Given the description of an element on the screen output the (x, y) to click on. 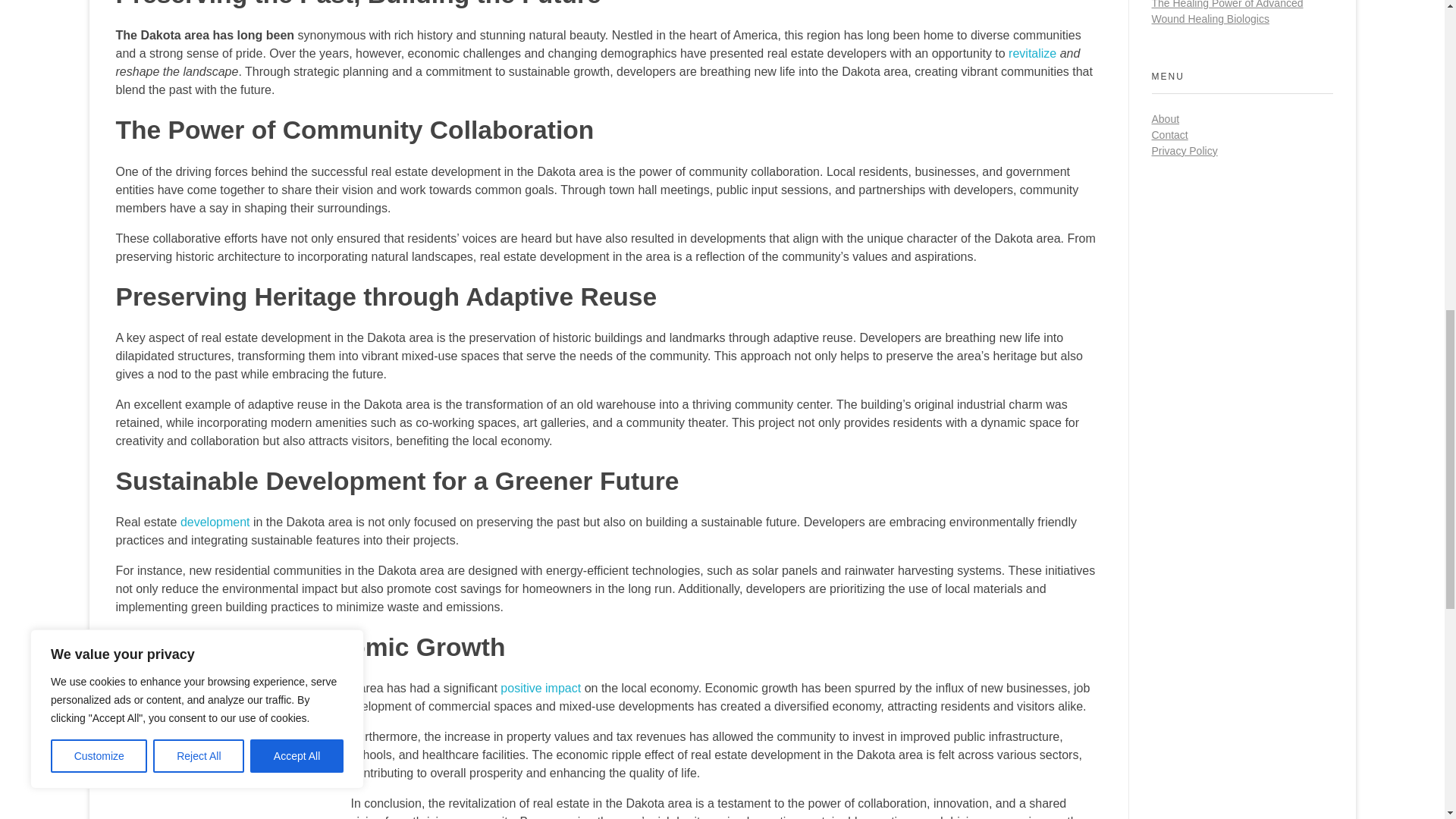
revitalize (1033, 52)
positive impact (540, 687)
development (215, 521)
